Given the description of an element on the screen output the (x, y) to click on. 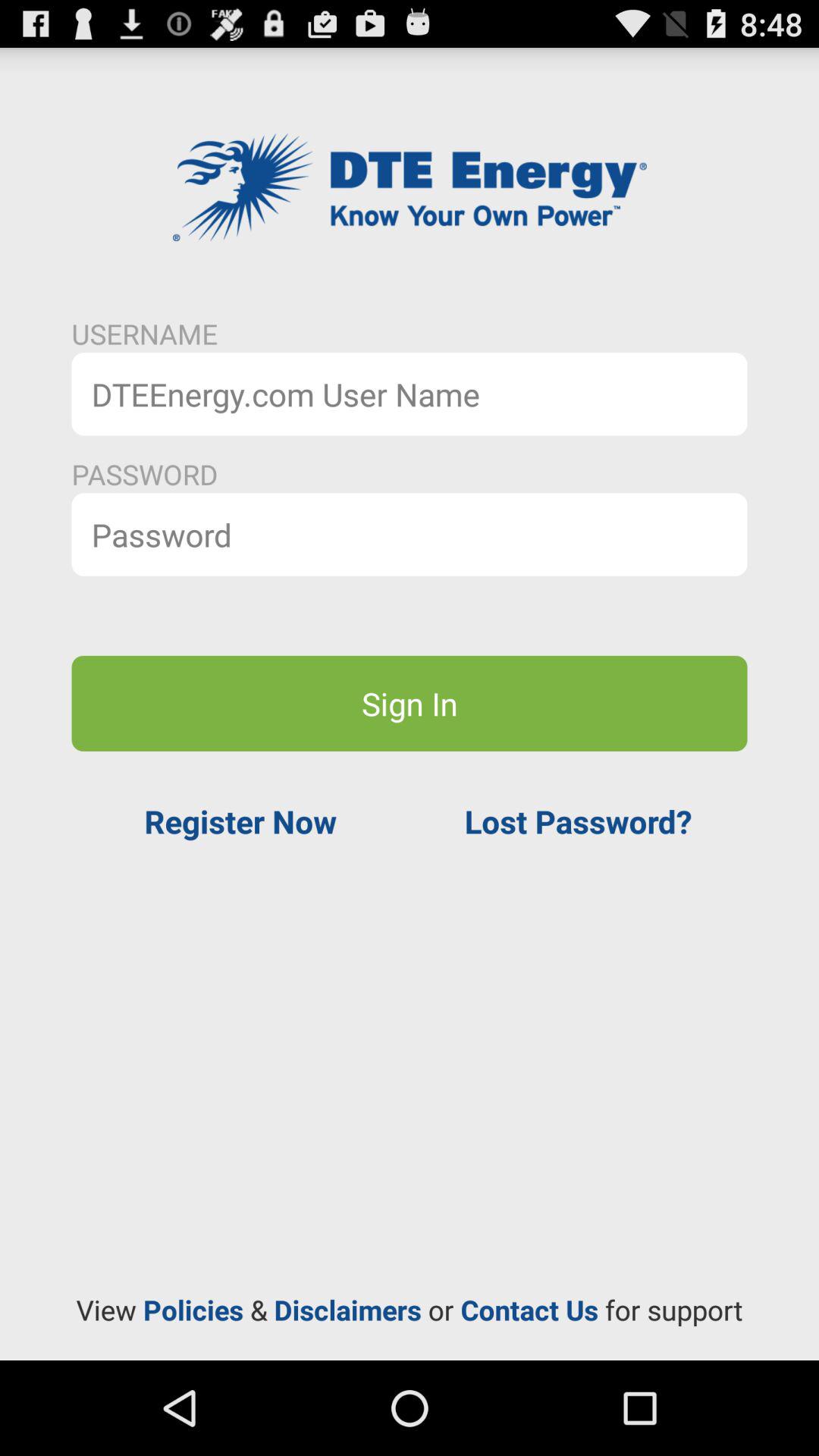
tap the item below register now item (409, 1309)
